Given the description of an element on the screen output the (x, y) to click on. 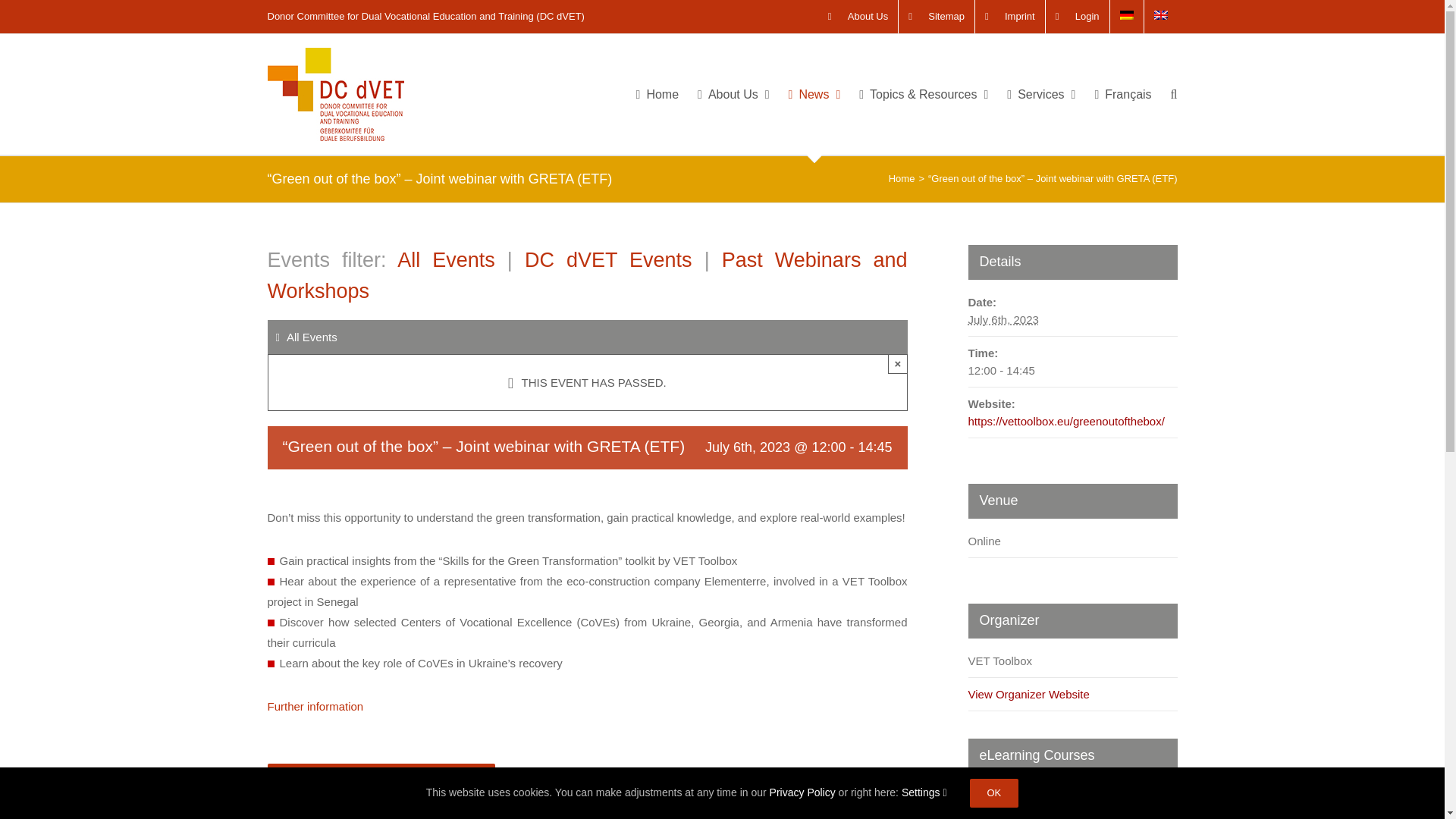
2023-07-06 (1072, 370)
About Us (858, 16)
Login (1077, 16)
2023-07-06 (1003, 318)
Imprint (1010, 16)
Sitemap (936, 16)
